Given the description of an element on the screen output the (x, y) to click on. 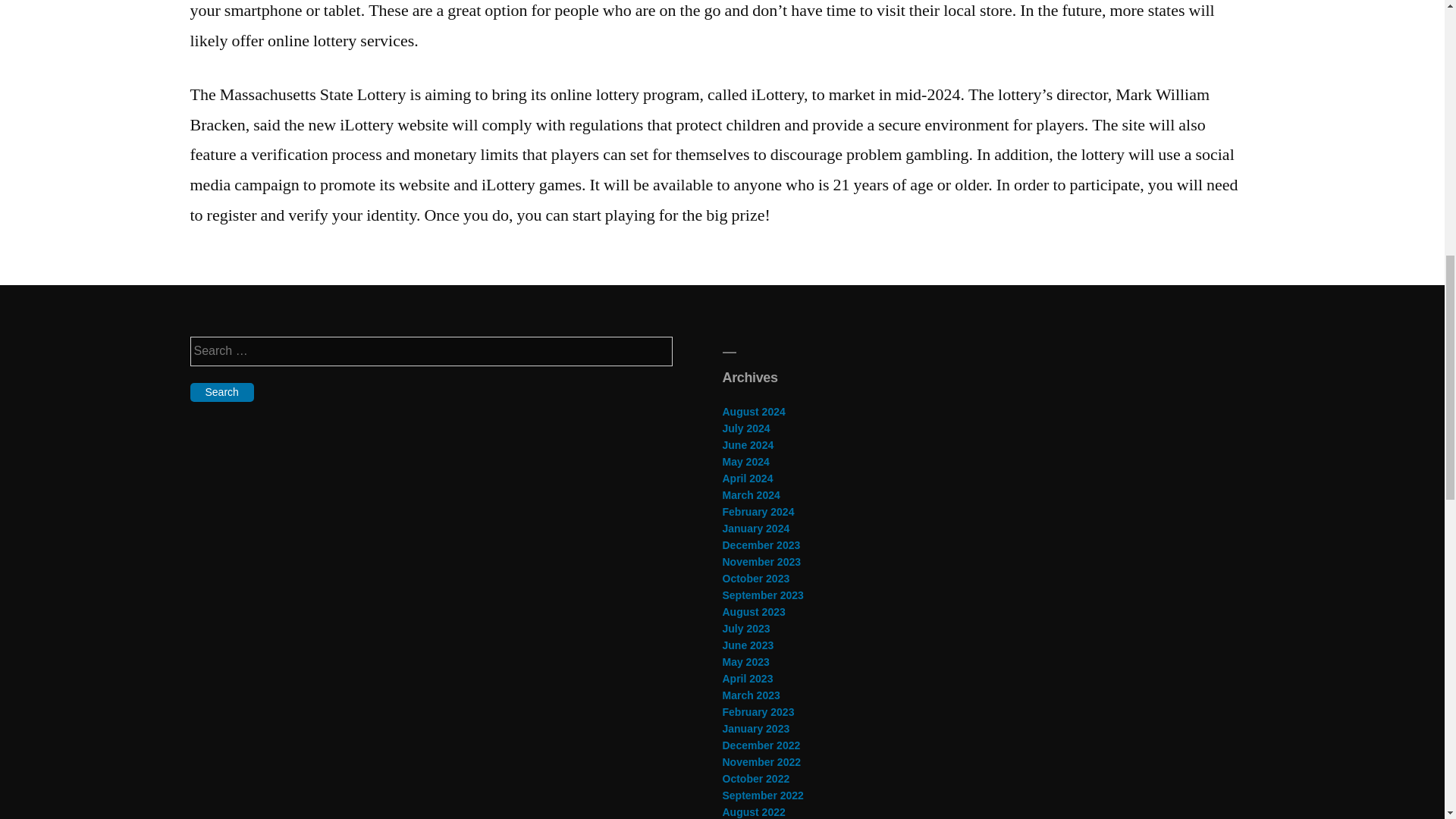
September 2022 (762, 795)
February 2023 (757, 711)
October 2023 (755, 578)
Search (221, 392)
August 2022 (753, 811)
Search (221, 392)
June 2023 (747, 645)
Search (221, 392)
January 2024 (755, 528)
May 2023 (745, 662)
